Given the description of an element on the screen output the (x, y) to click on. 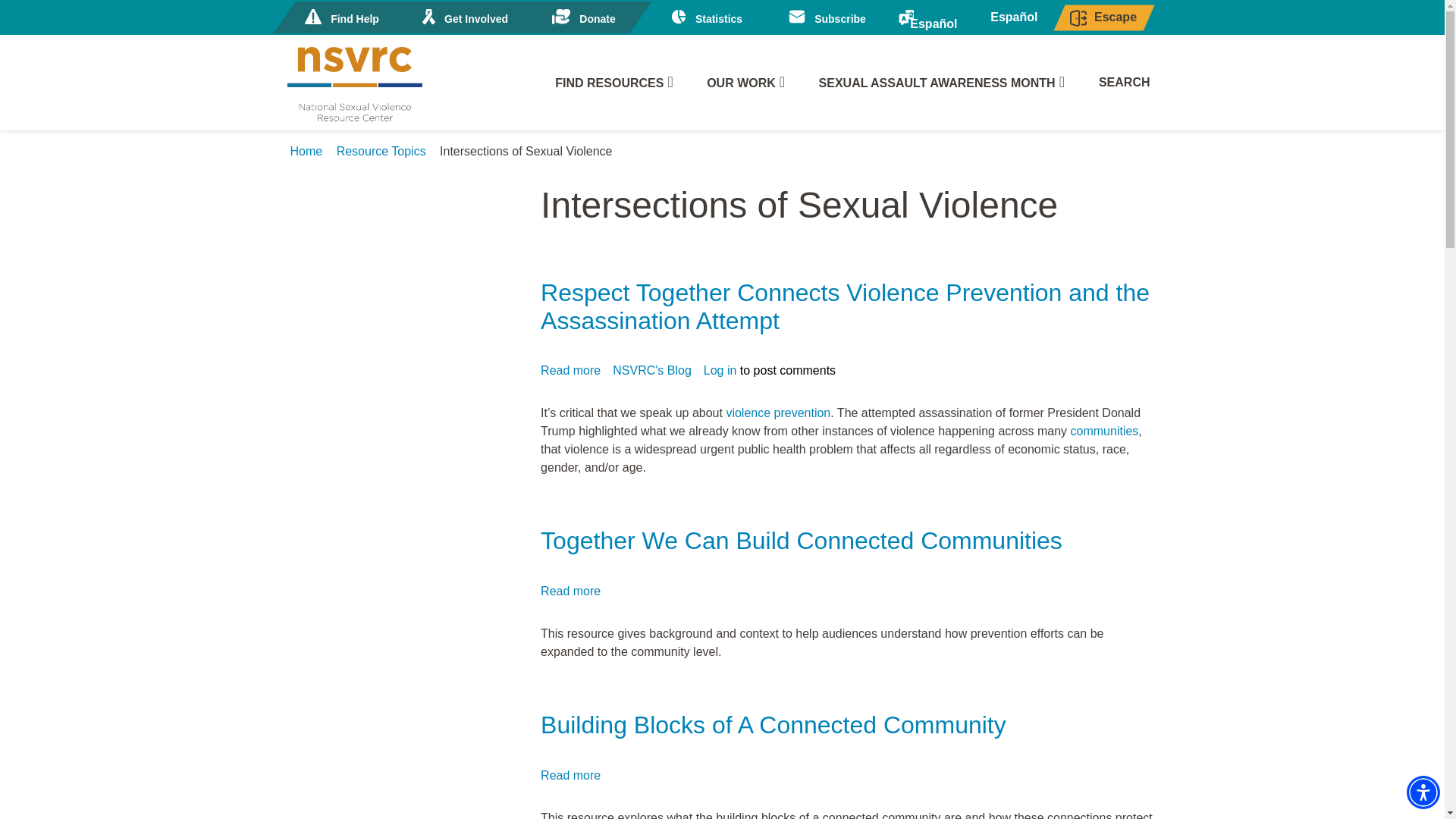
Statistics (704, 17)
Escape (1103, 17)
Subscribe (826, 17)
Get Involved (462, 17)
Accessibility Menu (1422, 792)
Spanish (934, 17)
Find Help (340, 17)
Donate (583, 17)
Escape (1103, 17)
FIND RESOURCES (613, 83)
